Given the description of an element on the screen output the (x, y) to click on. 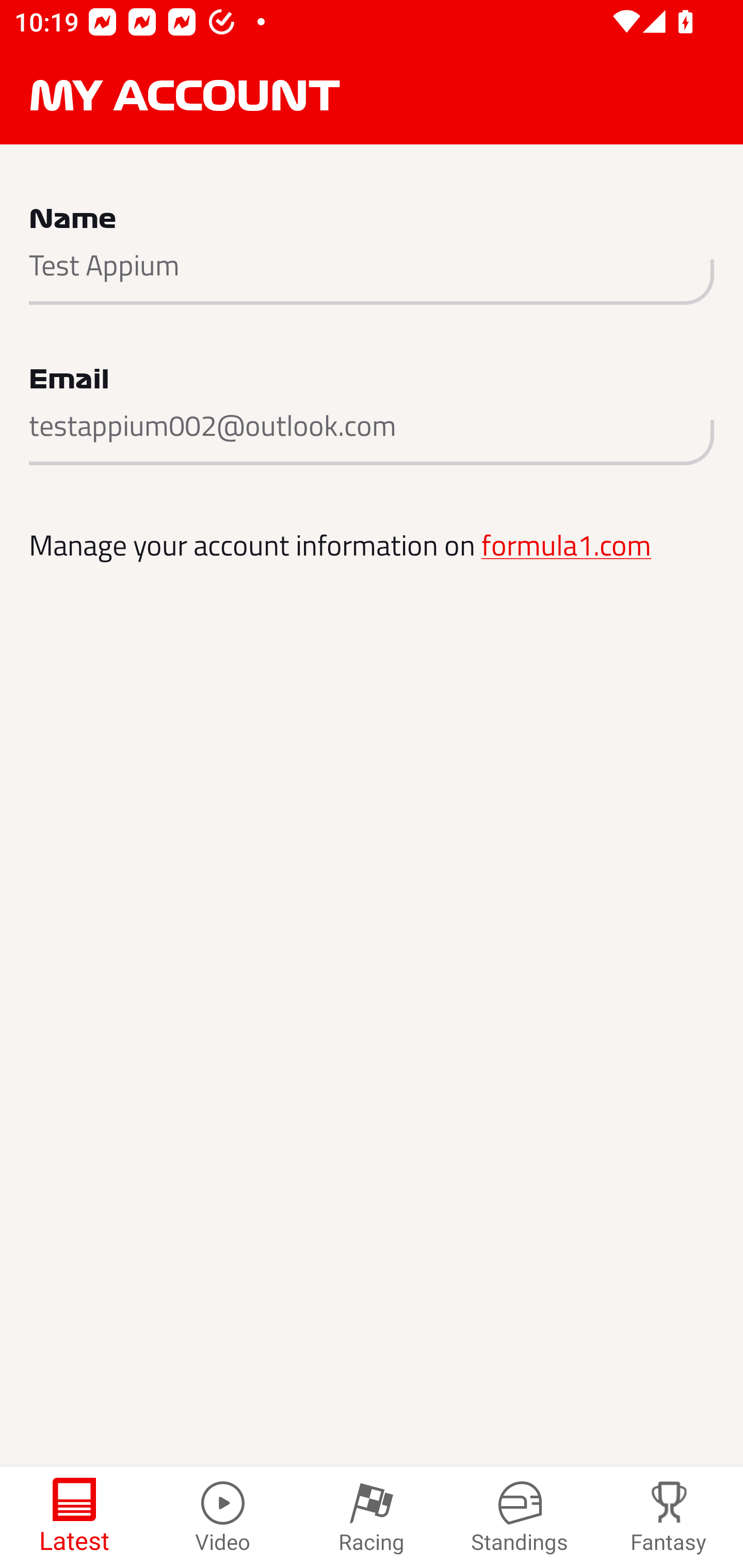
Video (222, 1517)
Racing (371, 1517)
Standings (519, 1517)
Fantasy (668, 1517)
